Given the description of an element on the screen output the (x, y) to click on. 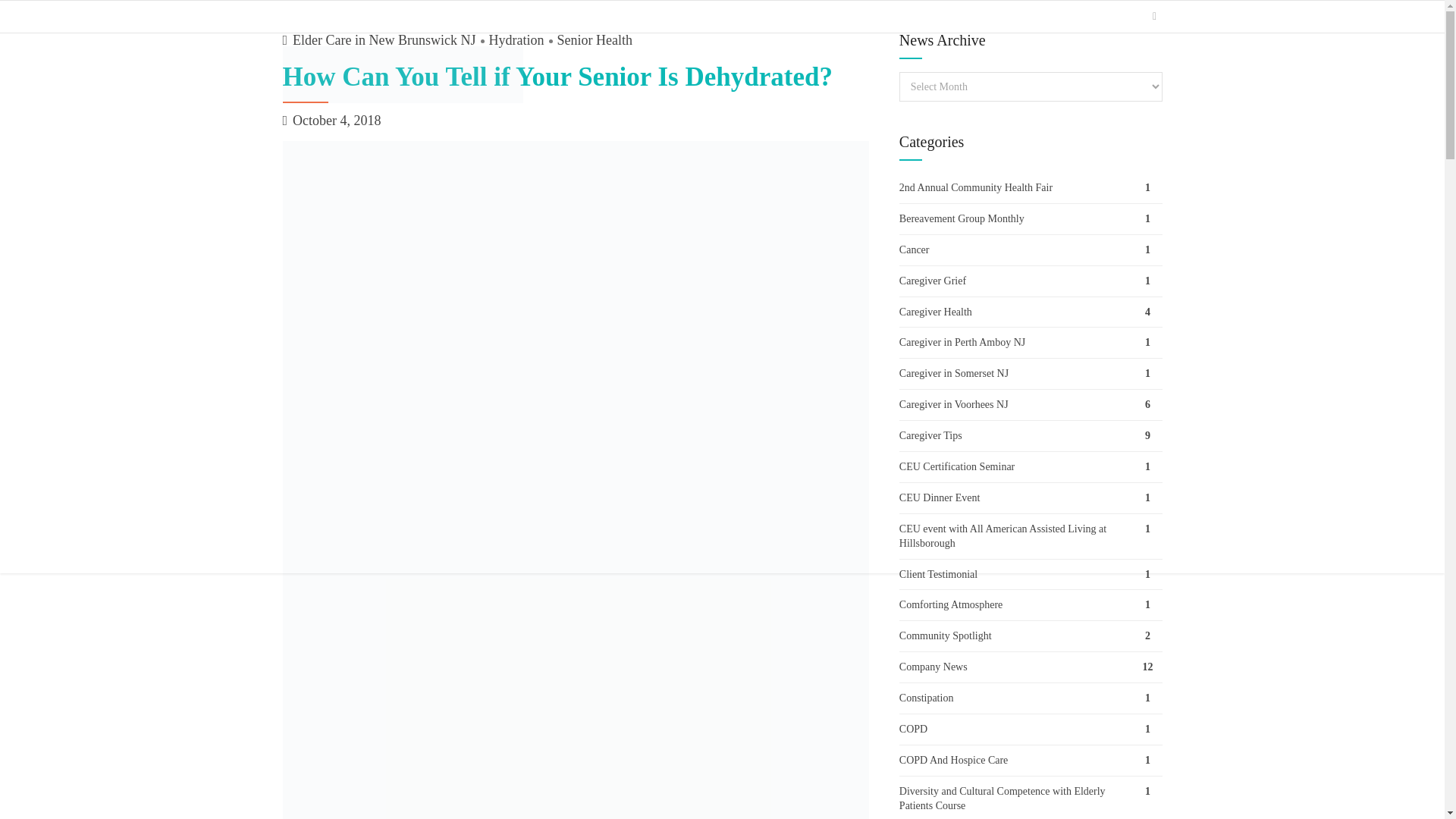
Hydration (510, 40)
Bereavement Group Monthly (1030, 219)
Caregiver in Perth Amboy NJ (1030, 343)
Senior Health (587, 40)
Caregiver in Voorhees NJ (1030, 405)
CEU Certification Seminar (1030, 467)
Caregiver Tips (1030, 436)
2nd Annual Community Health Fair (1030, 188)
Elder Care in New Brunswick NJ (384, 40)
Cancer (1030, 250)
